Given the description of an element on the screen output the (x, y) to click on. 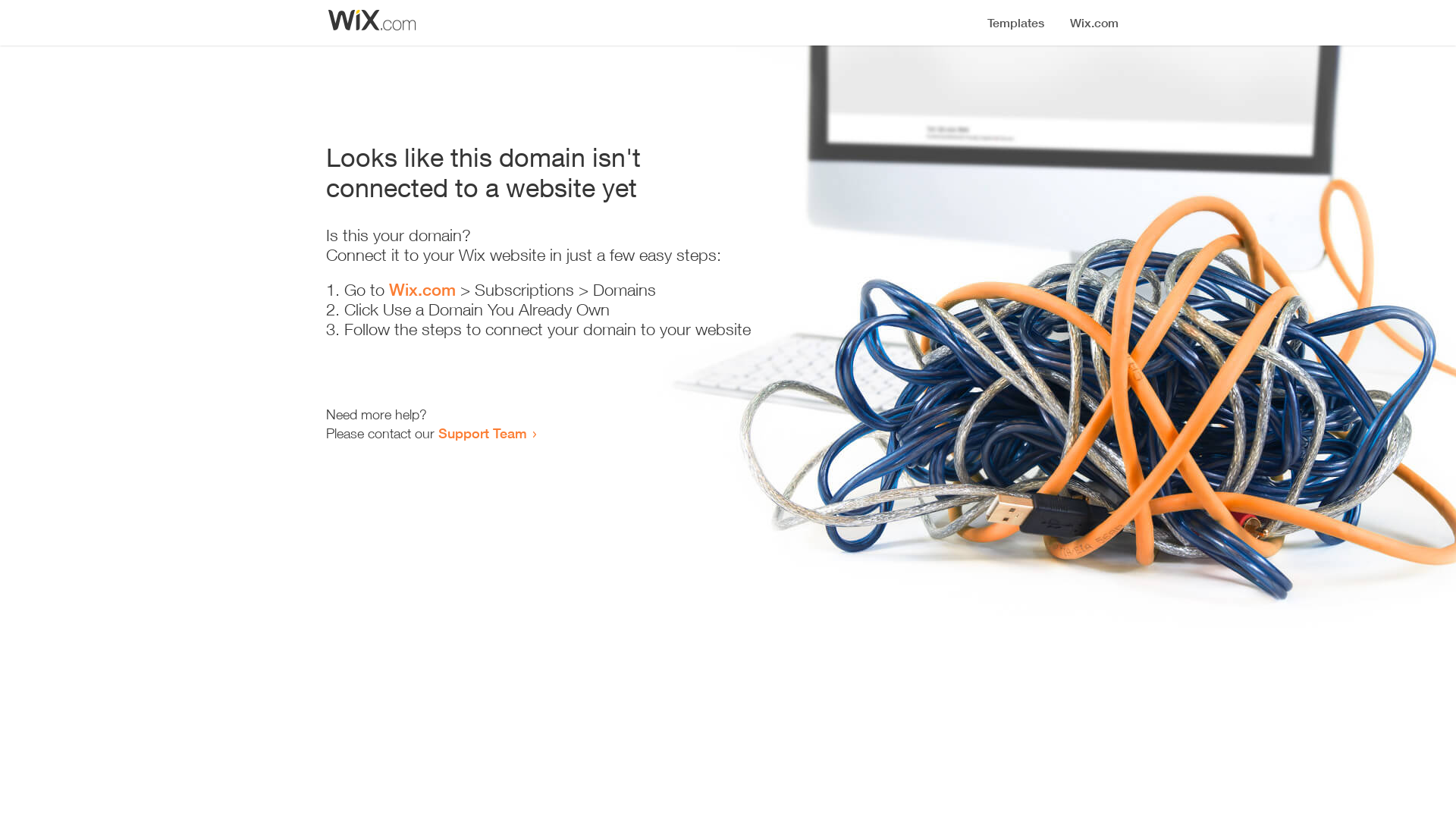
Support Team Element type: text (482, 432)
Wix.com Element type: text (422, 289)
